Given the description of an element on the screen output the (x, y) to click on. 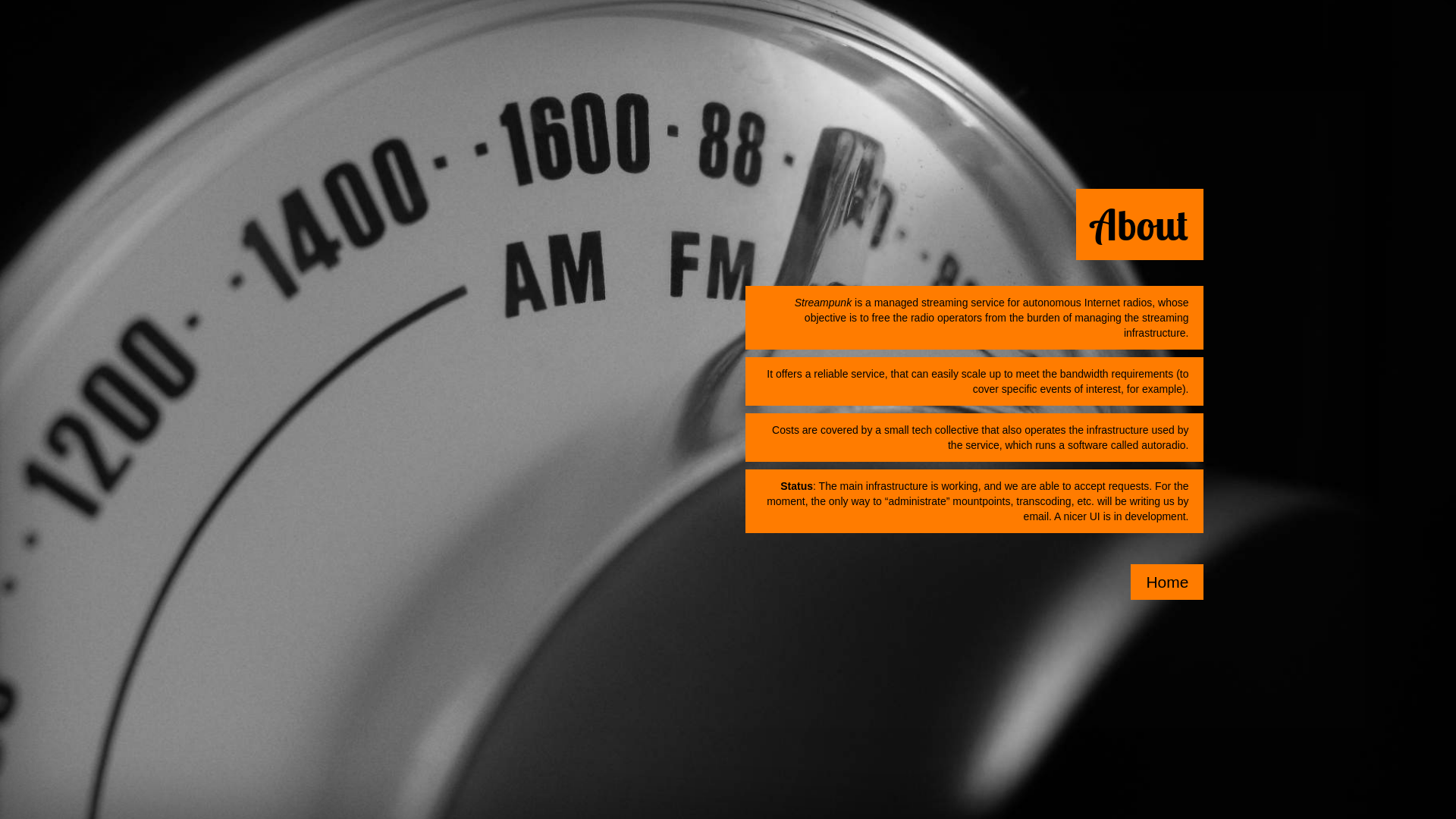
Home Element type: text (1166, 581)
autoradio Element type: text (1163, 445)
